Given the description of an element on the screen output the (x, y) to click on. 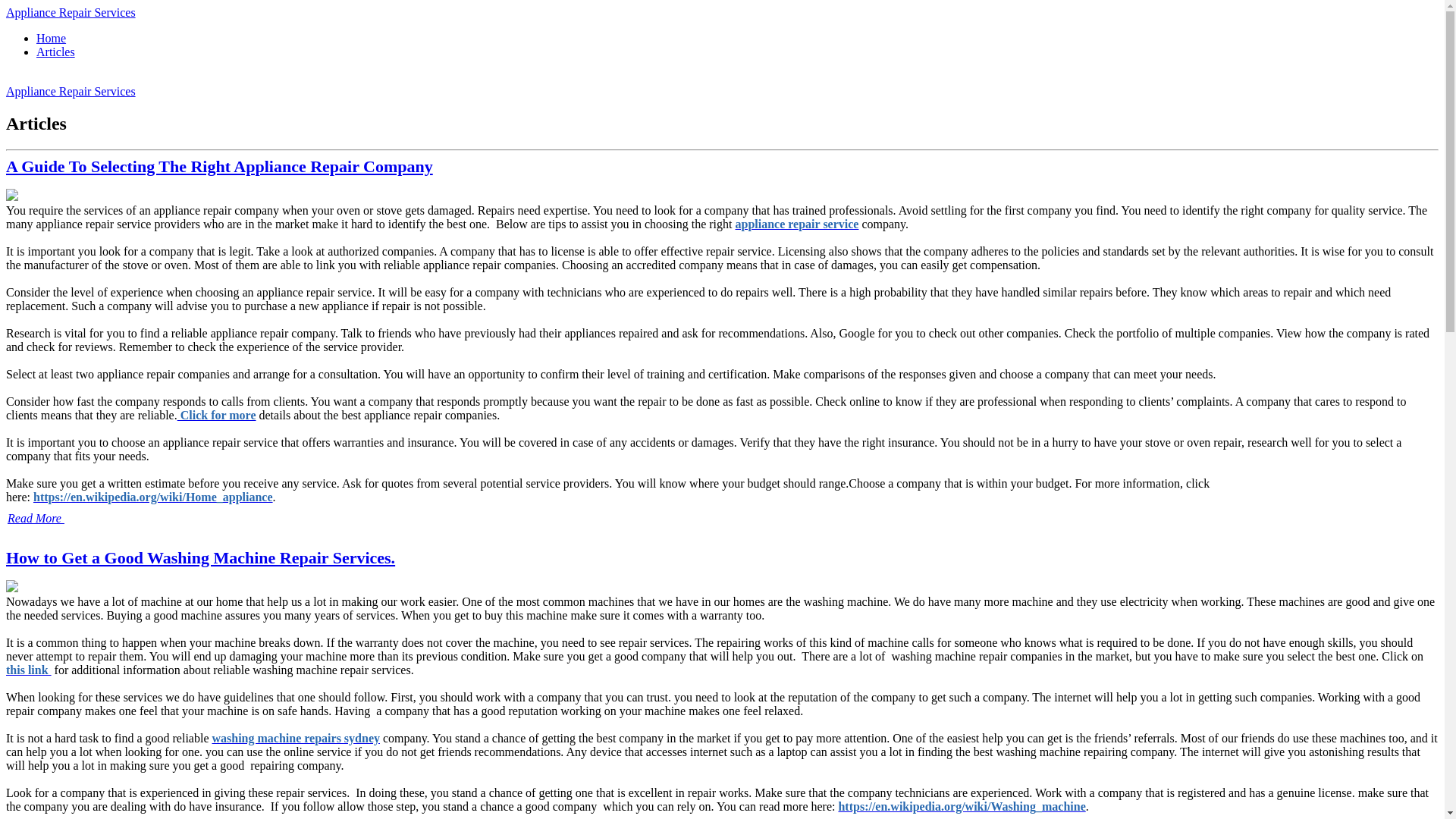
Appliance Repair Services (70, 91)
Click for more (216, 414)
washing machine repairs sydney (295, 738)
this link (27, 669)
Articles (55, 51)
A Guide To Selecting The Right Appliance Repair Company (218, 166)
Home (50, 38)
appliance repair service (797, 223)
Appliance Repair Services (70, 11)
How to Get a Good Washing Machine Repair Services. (199, 557)
